Given the description of an element on the screen output the (x, y) to click on. 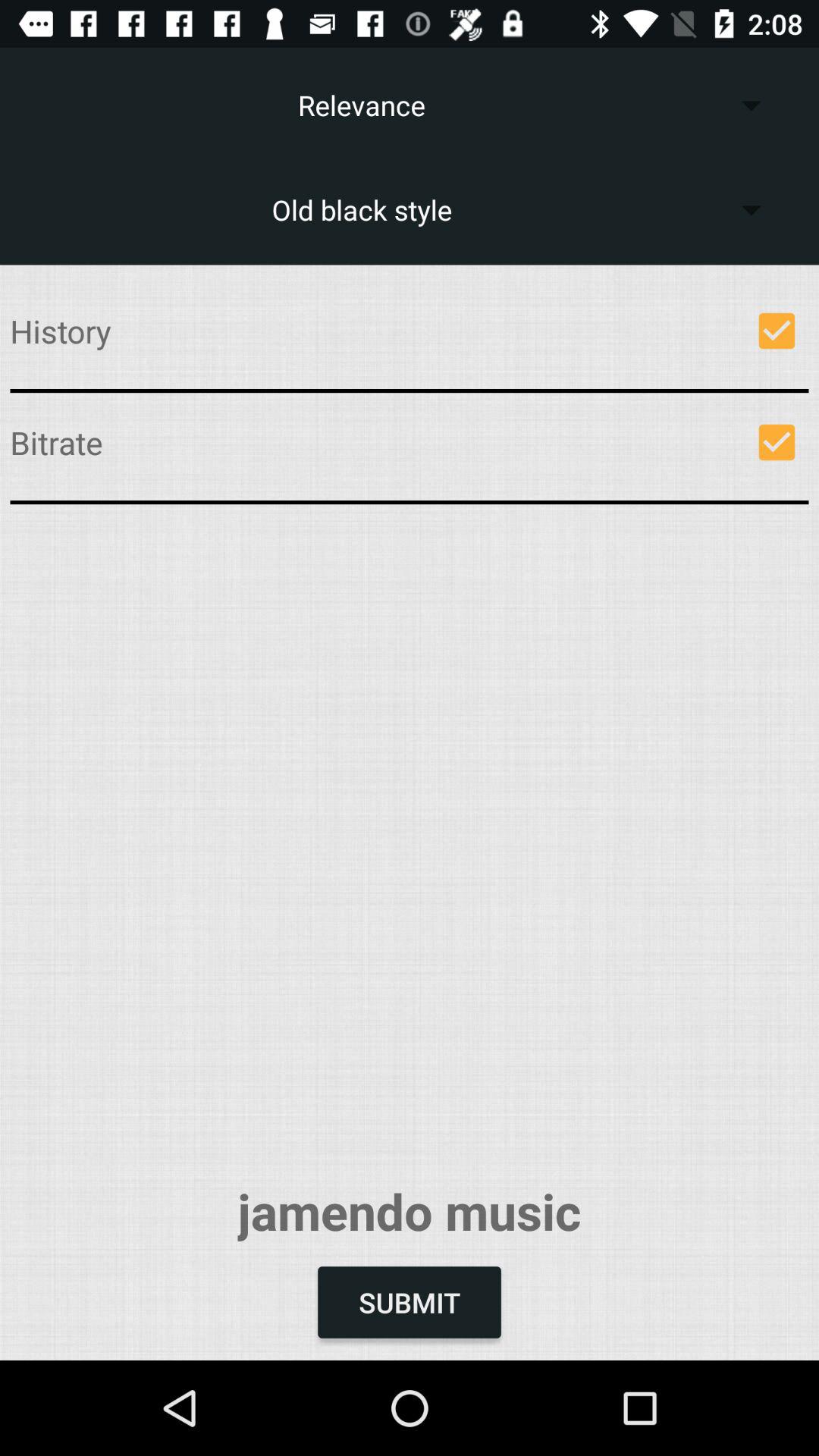
select the submit icon (409, 1302)
